Given the description of an element on the screen output the (x, y) to click on. 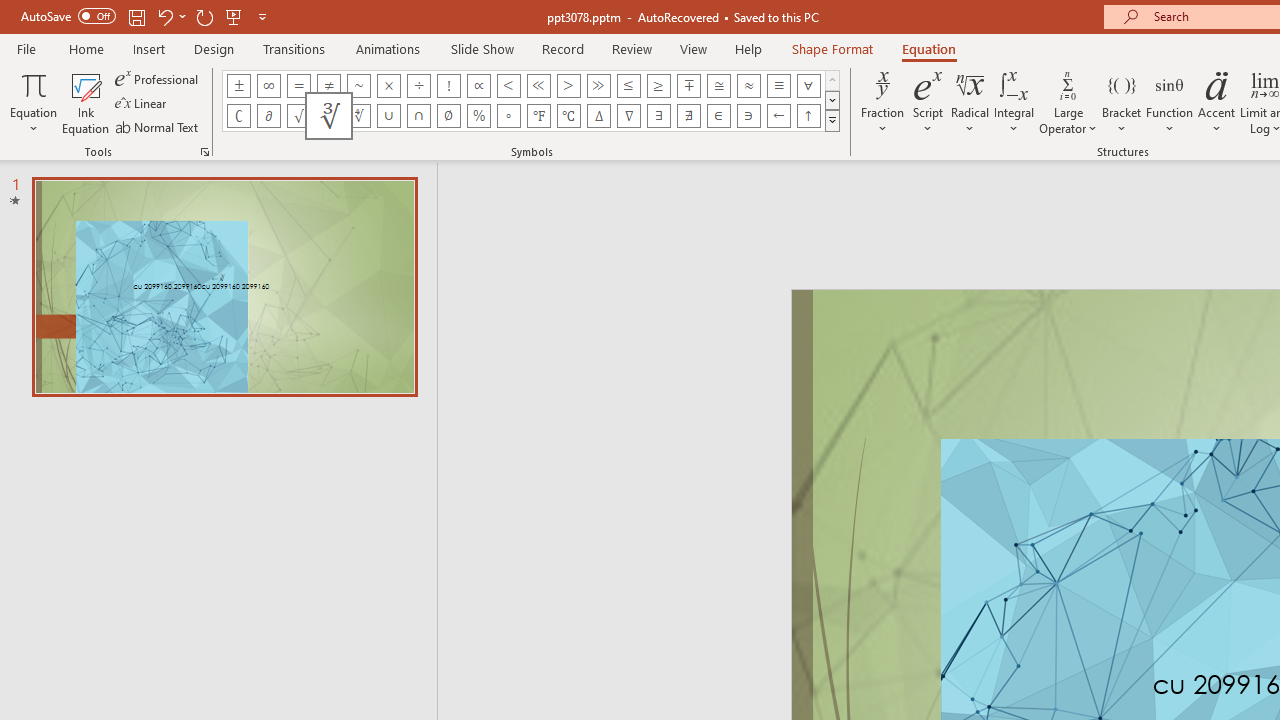
Equation Symbol Percentage (478, 115)
Radical (970, 102)
Equation Symbol Division Sign (418, 85)
Equation Symbol Identical To (778, 85)
Integral (1014, 102)
AutomationID: EquationSymbolsInsertGallery (532, 100)
Normal Text (158, 126)
Equation Symbol Increment (598, 115)
